Given the description of an element on the screen output the (x, y) to click on. 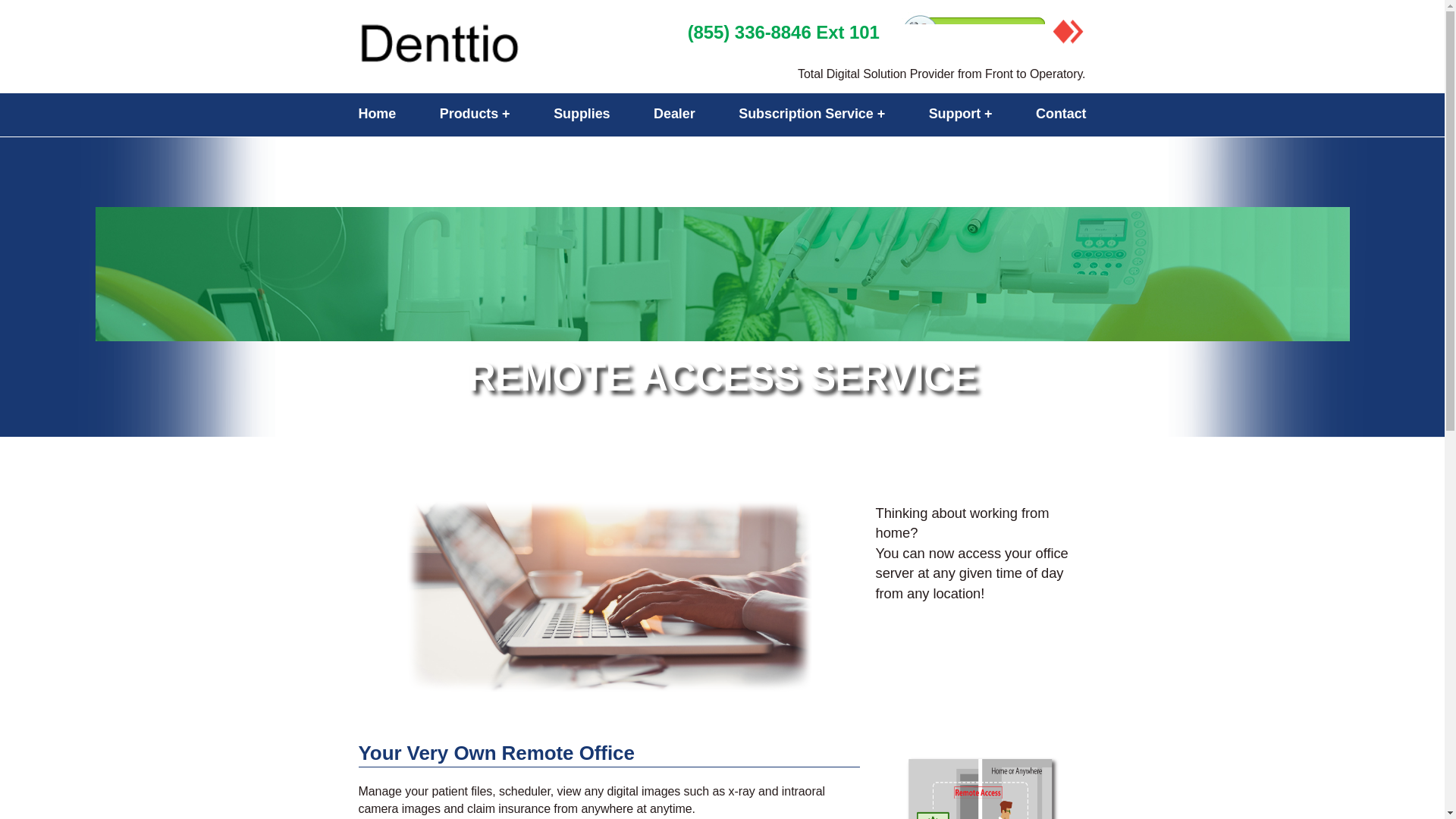
Products (475, 113)
Home (377, 113)
Subscription Service (811, 113)
Contact (1060, 113)
Dealer (674, 113)
Supplies (581, 113)
AnyDesk (1067, 32)
Support (960, 113)
Property Service (498, 45)
